Given the description of an element on the screen output the (x, y) to click on. 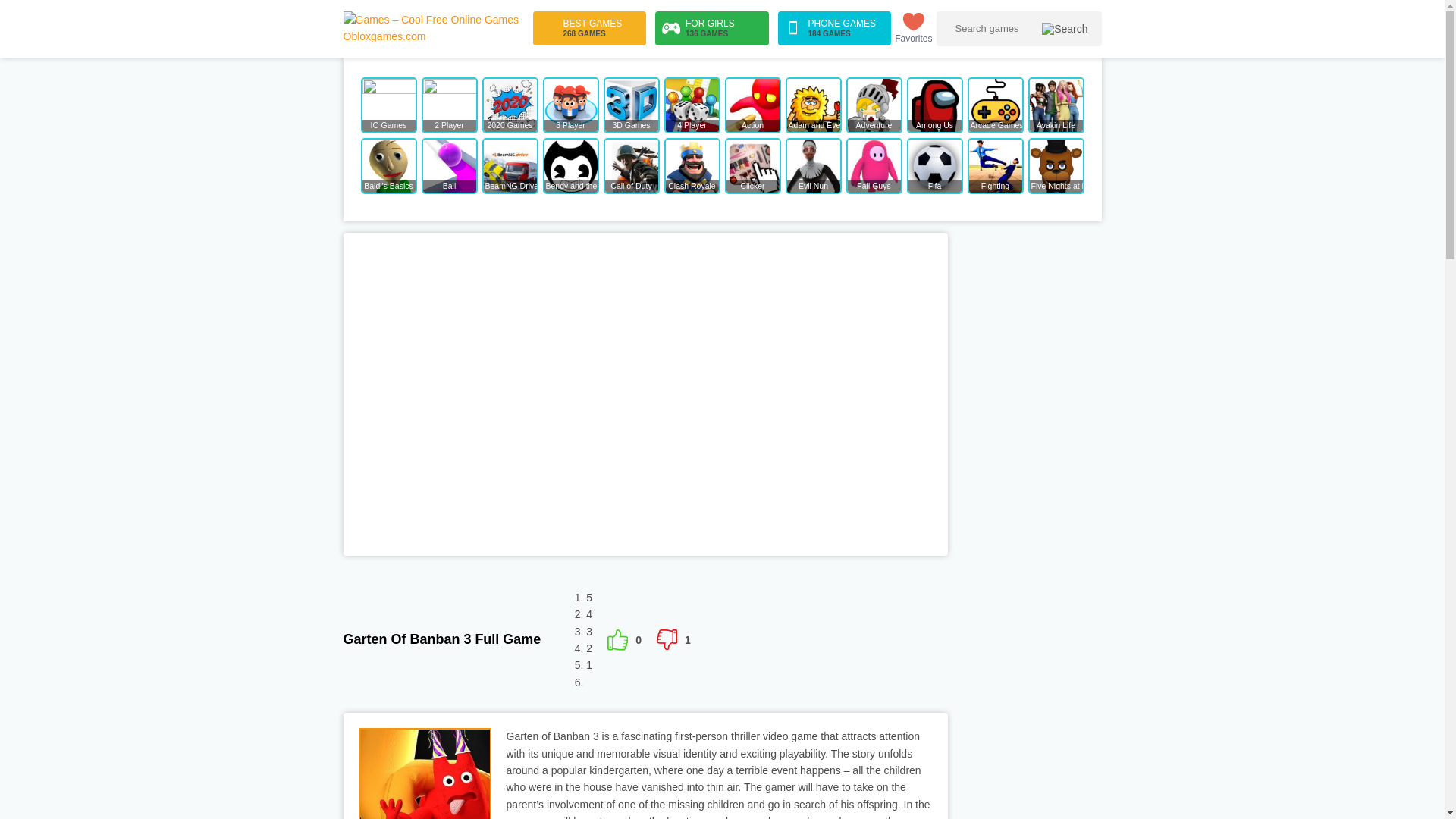
3 Player (570, 104)
Call of Duty (631, 166)
Arcade Games (995, 104)
BeamNG Drive (509, 166)
Ball (449, 166)
Ball (449, 166)
Among Us (934, 104)
Action (752, 104)
3 Player (570, 104)
Arcade Games (995, 104)
